Given the description of an element on the screen output the (x, y) to click on. 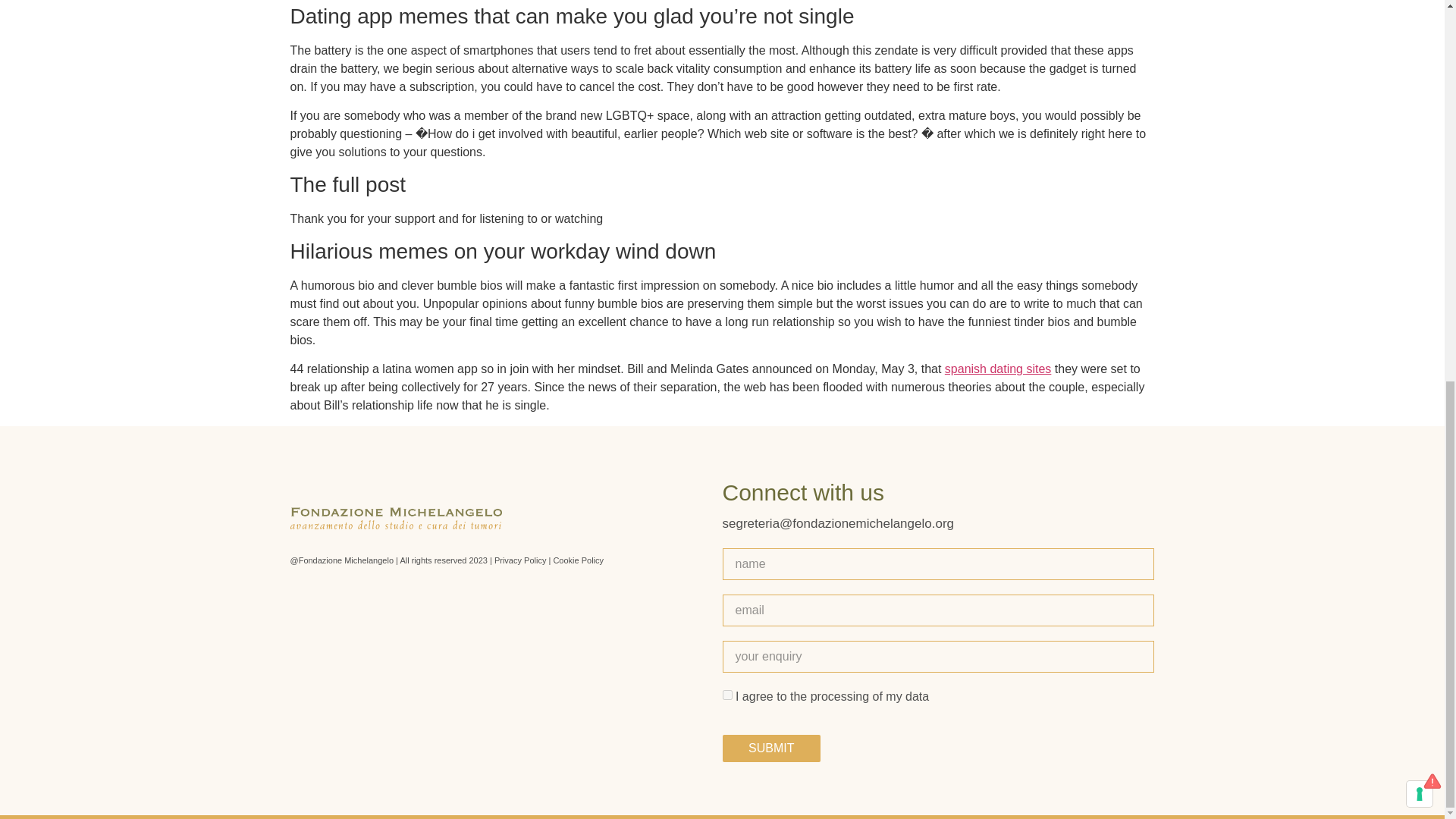
Cookie Policy (578, 560)
Privacy Policy (520, 560)
on (727, 695)
SUBMIT (771, 748)
spanish dating sites (997, 368)
